Given the description of an element on the screen output the (x, y) to click on. 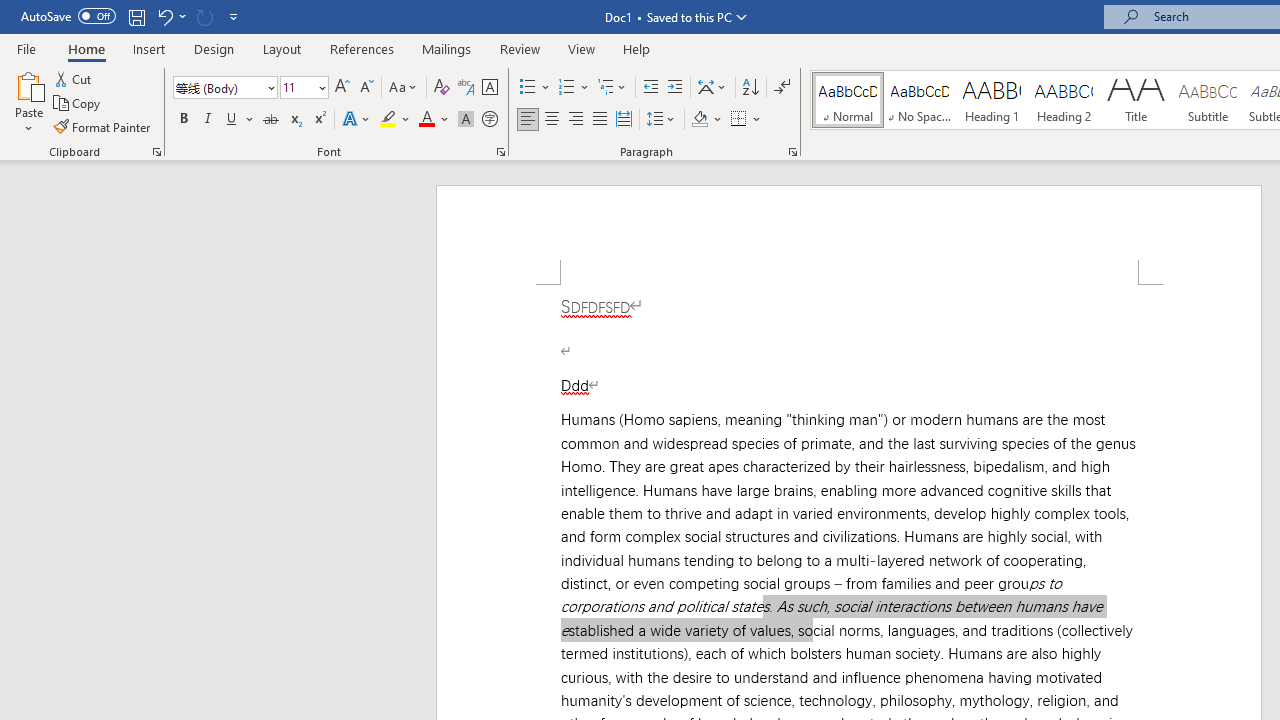
Justify (599, 119)
Character Shading (465, 119)
Font Color (434, 119)
Subtitle (1208, 100)
Line and Paragraph Spacing (661, 119)
Shrink Font (365, 87)
Increase Indent (675, 87)
Copy (78, 103)
Distributed (623, 119)
